Given the description of an element on the screen output the (x, y) to click on. 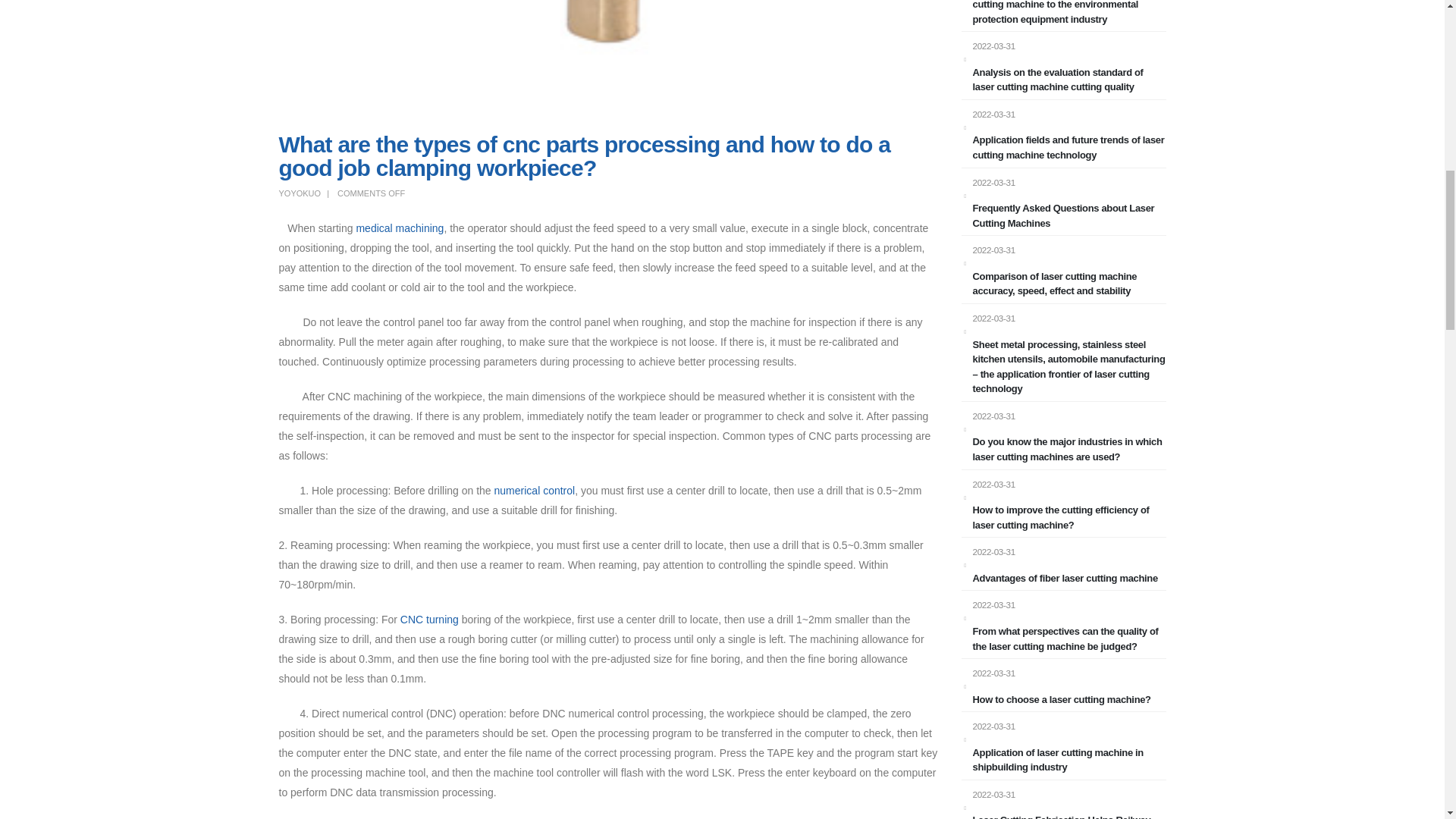
Posts by Yoyokuo (300, 193)
